Given the description of an element on the screen output the (x, y) to click on. 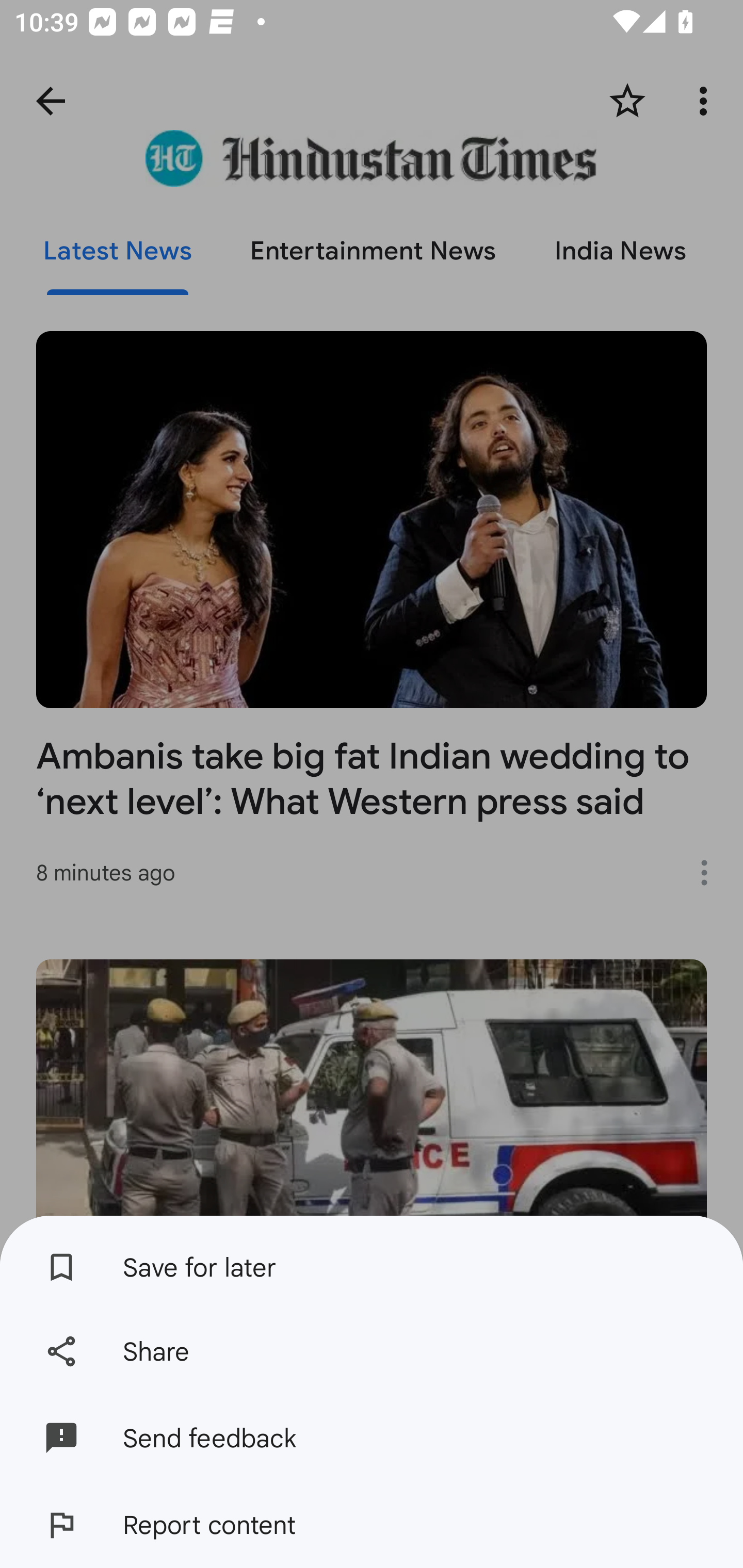
Save for later (371, 1261)
Share (371, 1350)
Send feedback (371, 1437)
Report content (371, 1524)
